Given the description of an element on the screen output the (x, y) to click on. 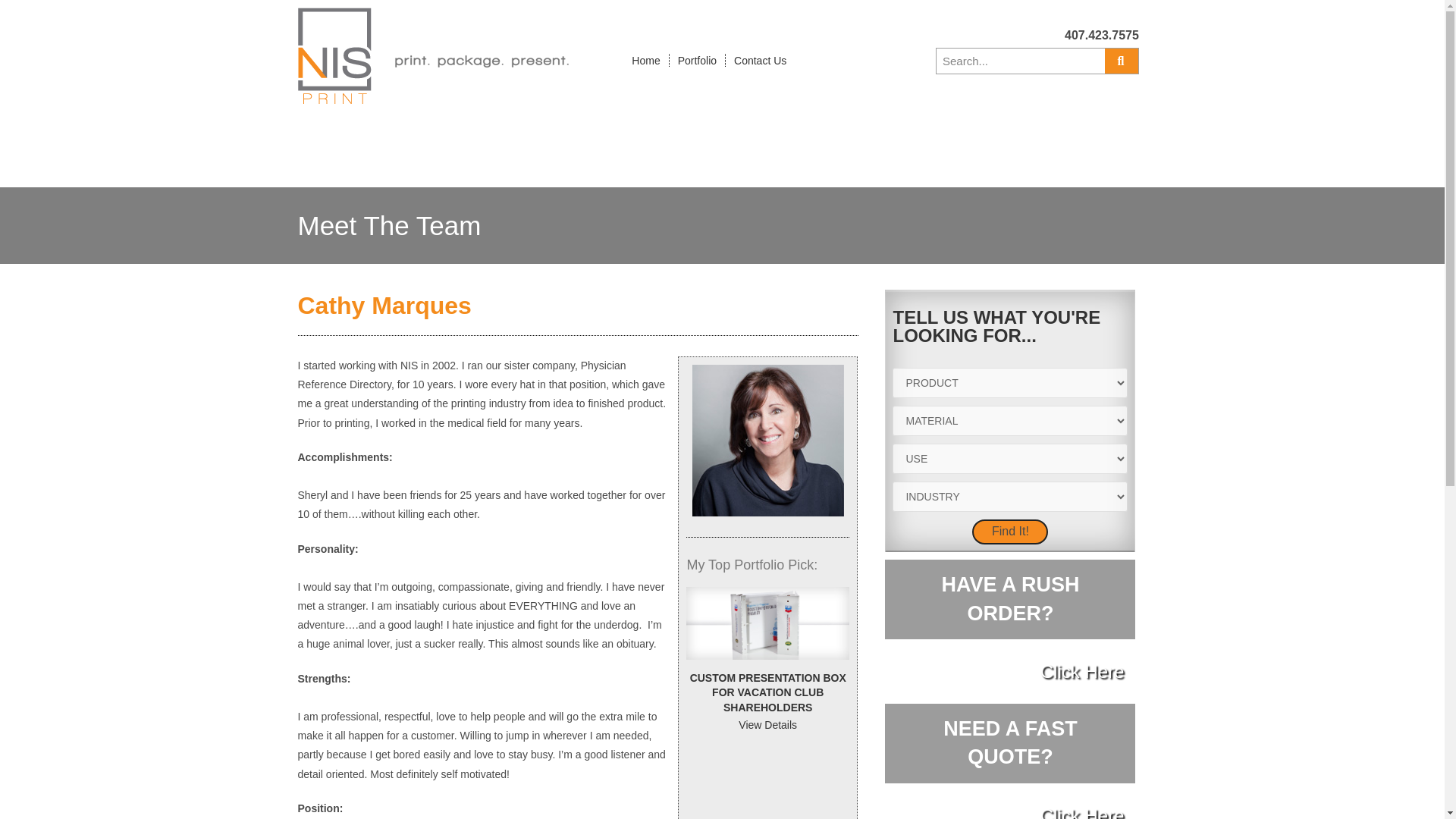
Search (1121, 60)
Contact Us (759, 59)
Portfolio (697, 59)
View Details (767, 725)
Home (645, 59)
Click Here (1082, 670)
Click Here (1009, 598)
407.423.7575 (1082, 812)
Search (1101, 34)
CUSTOM PRESENTATION BOX FOR VACATION CLUB SHAREHOLDERS (1010, 743)
